Given the description of an element on the screen output the (x, y) to click on. 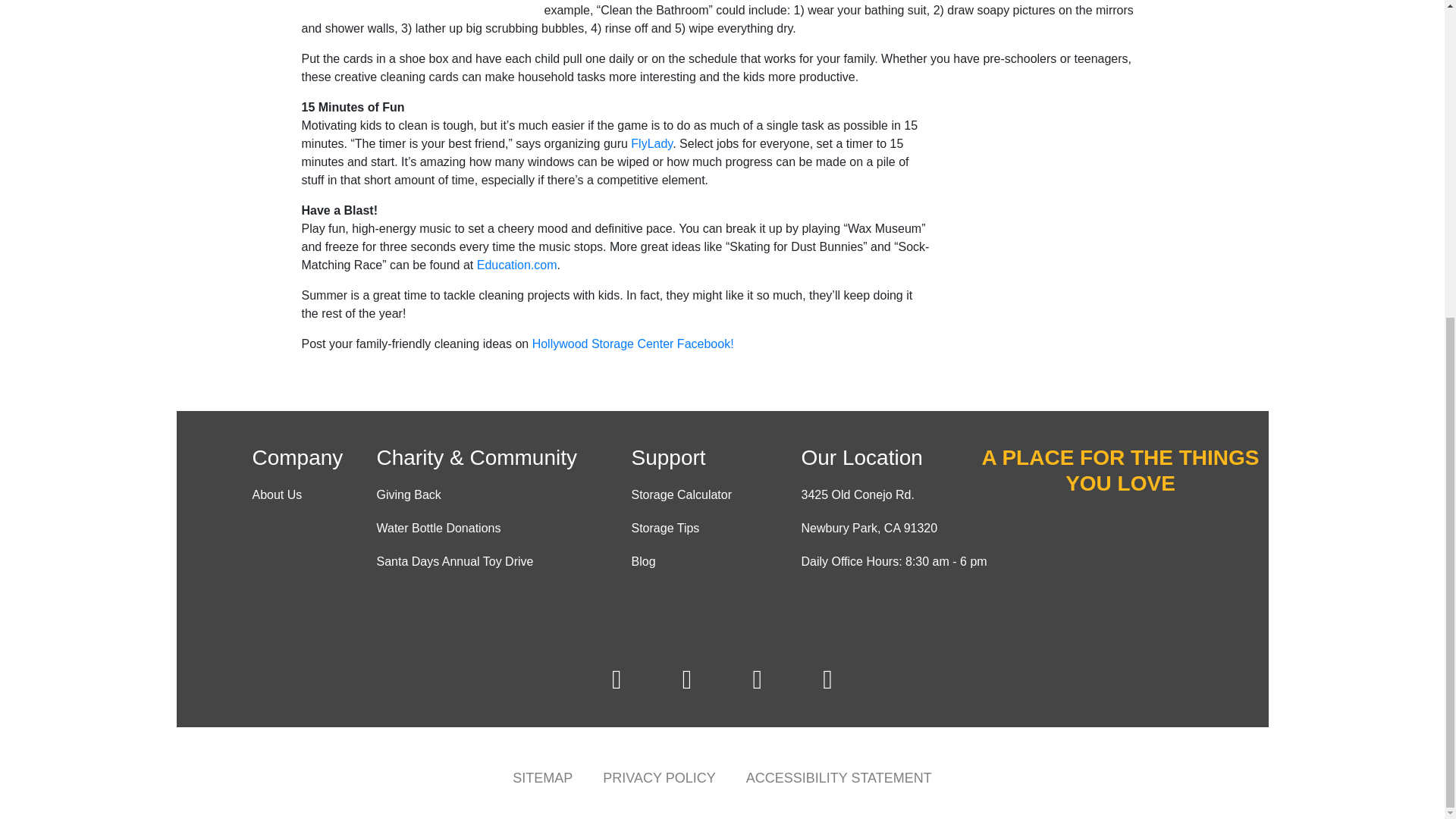
Hollywood Storage Center Facebook Page (632, 343)
Education.com Kid Cleaning Games (517, 264)
FlyLady's Organizational Website (651, 143)
